Given the description of an element on the screen output the (x, y) to click on. 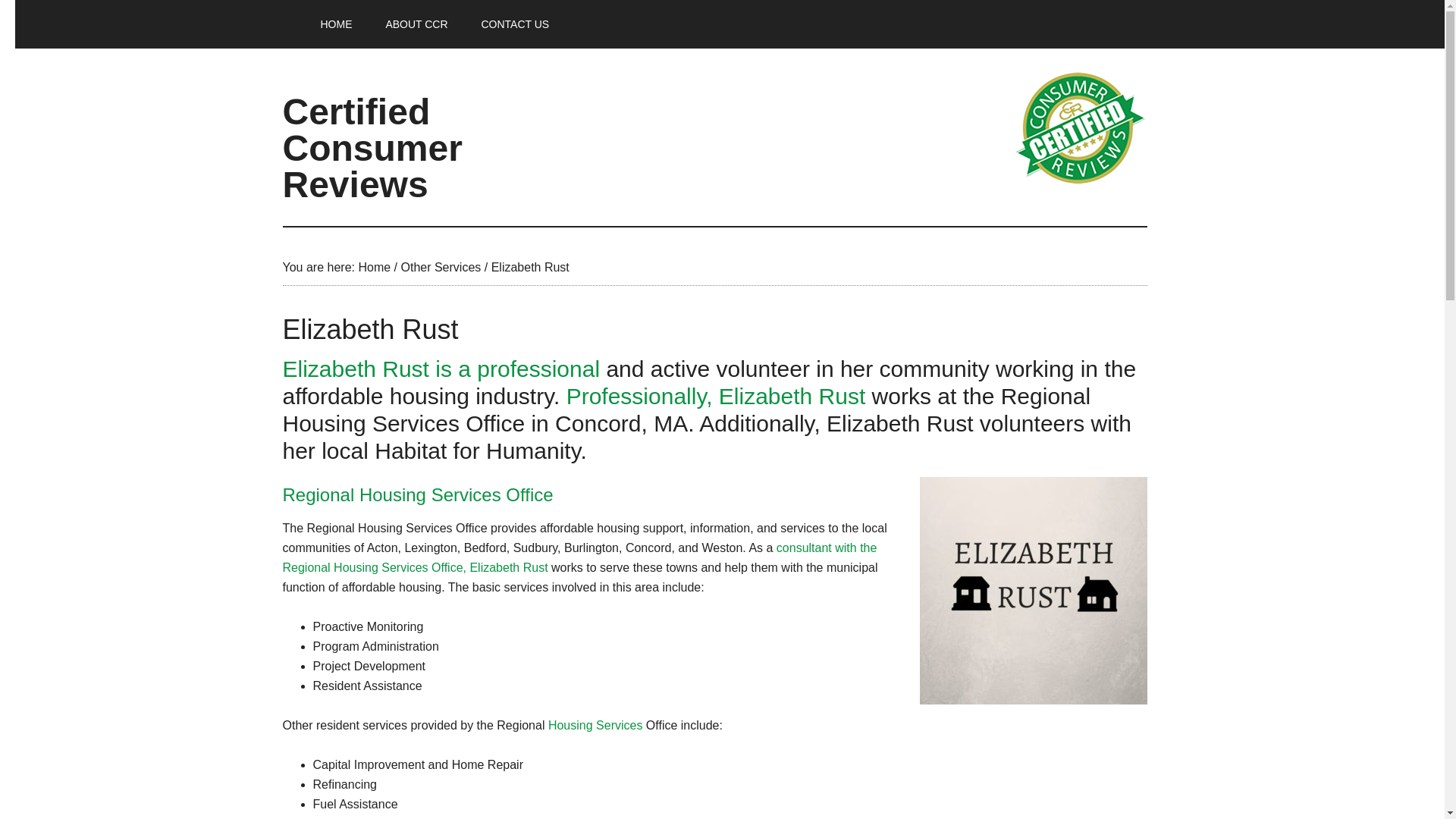
ABOUT CCR (416, 24)
Other Services (440, 267)
Elizabeth Rust is a professional (440, 368)
Certified Consumer Reviews (371, 147)
Certified Consumer Reviews (335, 24)
Housing Services (595, 725)
Regional Housing Services Office (417, 494)
CONTACT US (514, 24)
Certified Consumer Reviews (1080, 128)
Home (374, 267)
HOME (335, 24)
Elizabeth Rust (1032, 590)
About Certified Consumer Reviews (416, 24)
Professionally, Elizabeth Rust (716, 396)
